Given the description of an element on the screen output the (x, y) to click on. 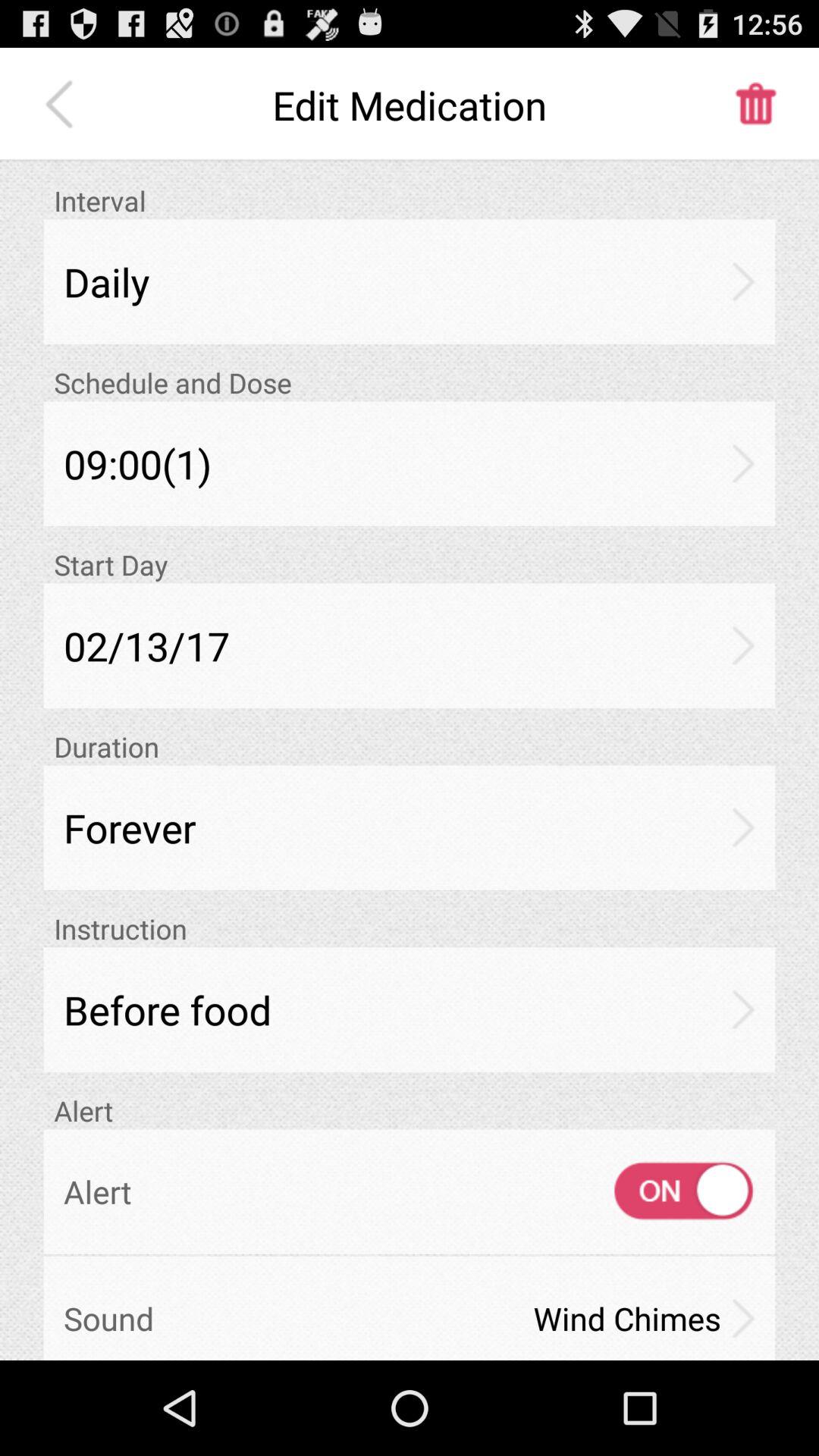
scroll until the 09:00(1) (409, 463)
